Given the description of an element on the screen output the (x, y) to click on. 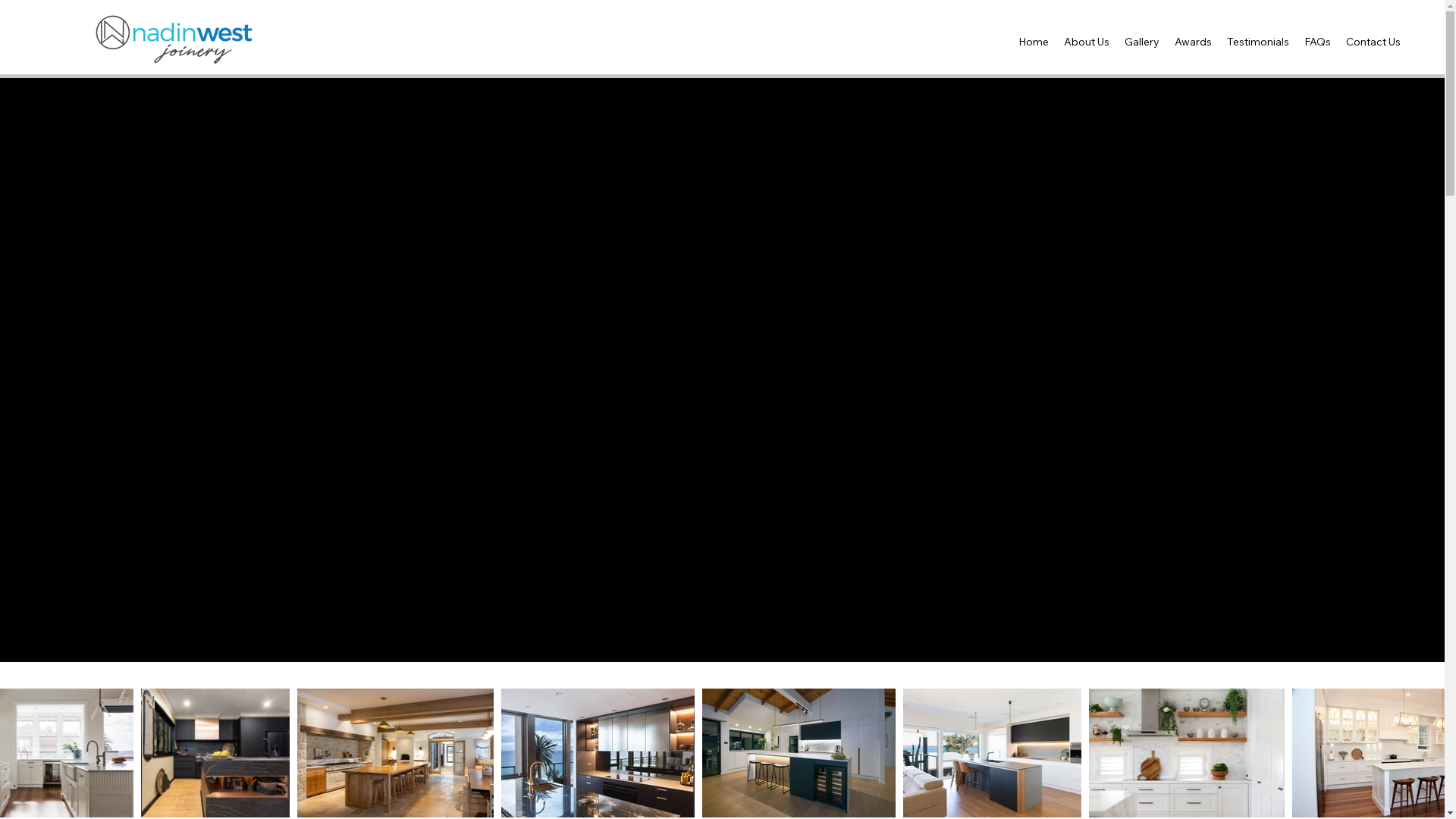
Contact Us Element type: text (1373, 41)
Home Element type: text (1033, 41)
FAQs Element type: text (1317, 41)
Testimonials Element type: text (1257, 41)
